Given the description of an element on the screen output the (x, y) to click on. 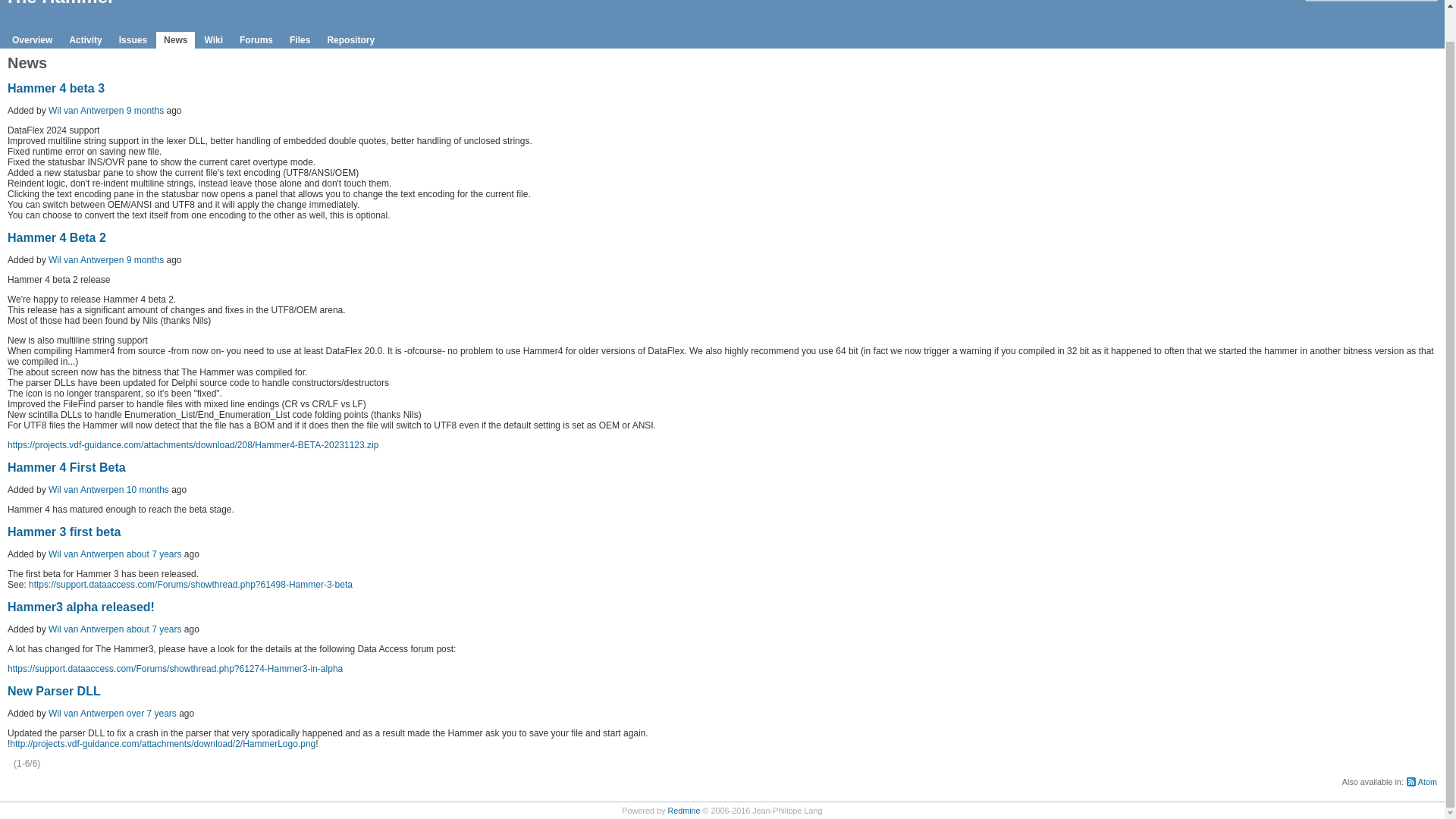
Wil van Antwerpen (85, 110)
Wiki (213, 39)
Hammer 4 beta 3 (55, 88)
9 months (144, 110)
Hammer 4 Beta 2 (56, 237)
News (175, 39)
Repository (349, 39)
Activity (85, 39)
Files (299, 39)
Overview (31, 39)
